Given the description of an element on the screen output the (x, y) to click on. 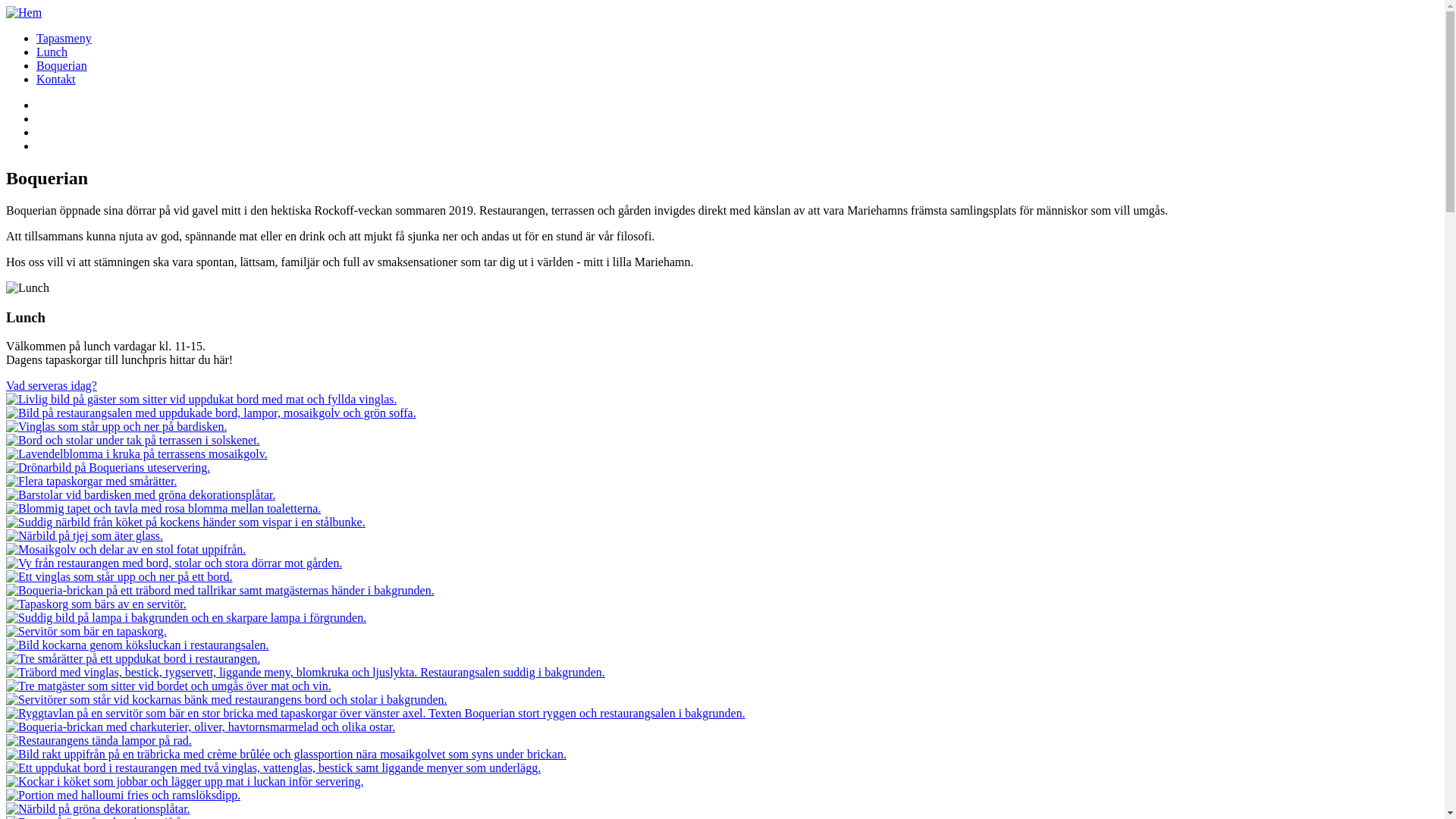
Tapasmeny Element type: text (63, 37)
Blommig tapet och tavla med rosa blomma mellan toaletterna. Element type: hover (163, 508)
Boquerian Element type: text (61, 65)
Lunch Element type: text (51, 51)
Vad serveras idag? Element type: text (51, 385)
Hem Element type: hover (23, 12)
Kontakt Element type: text (55, 78)
